Given the description of an element on the screen output the (x, y) to click on. 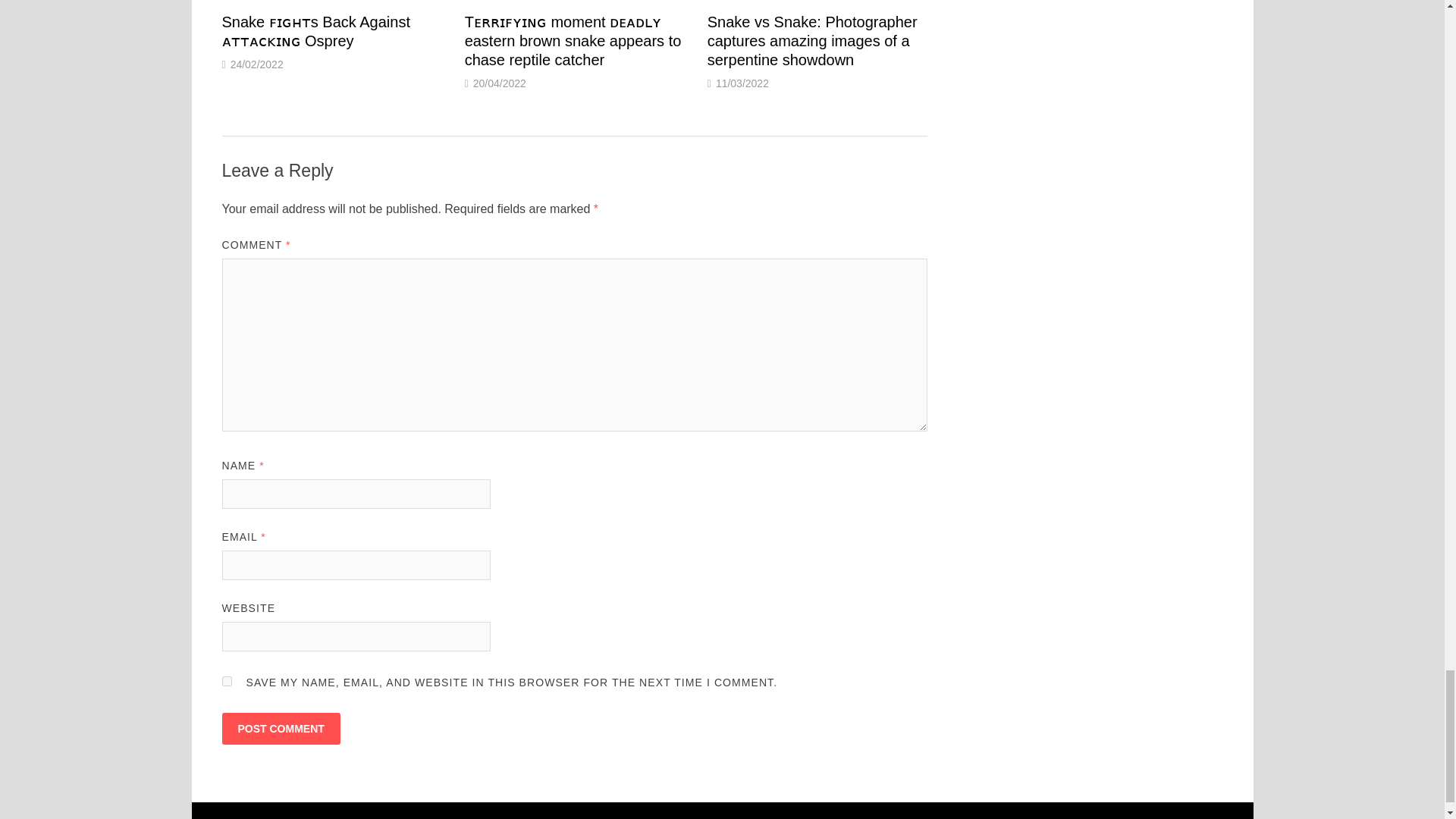
yes (226, 681)
Post Comment (280, 728)
